Given the description of an element on the screen output the (x, y) to click on. 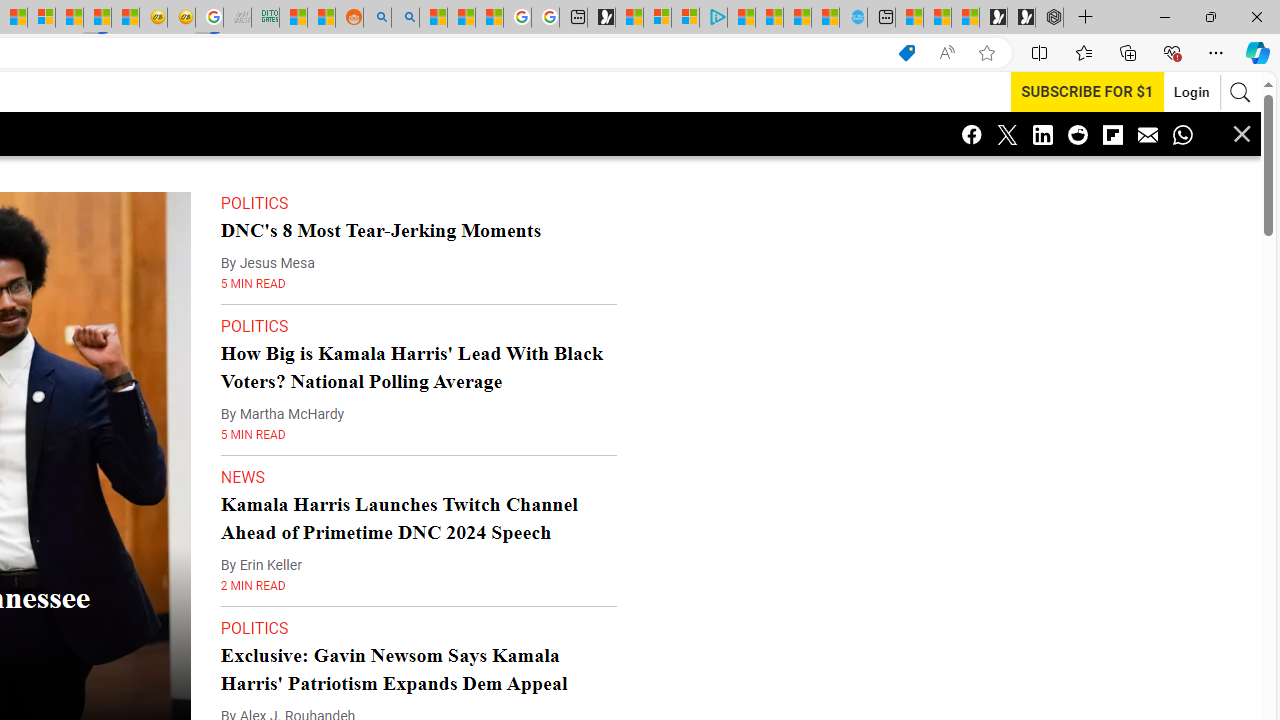
Class: icon-twitter (1007, 133)
MSN (97, 17)
NEWS (243, 477)
MSNBC - MSN (293, 17)
POLITICS (254, 628)
Class: icon-flipboard (1112, 133)
